Given the description of an element on the screen output the (x, y) to click on. 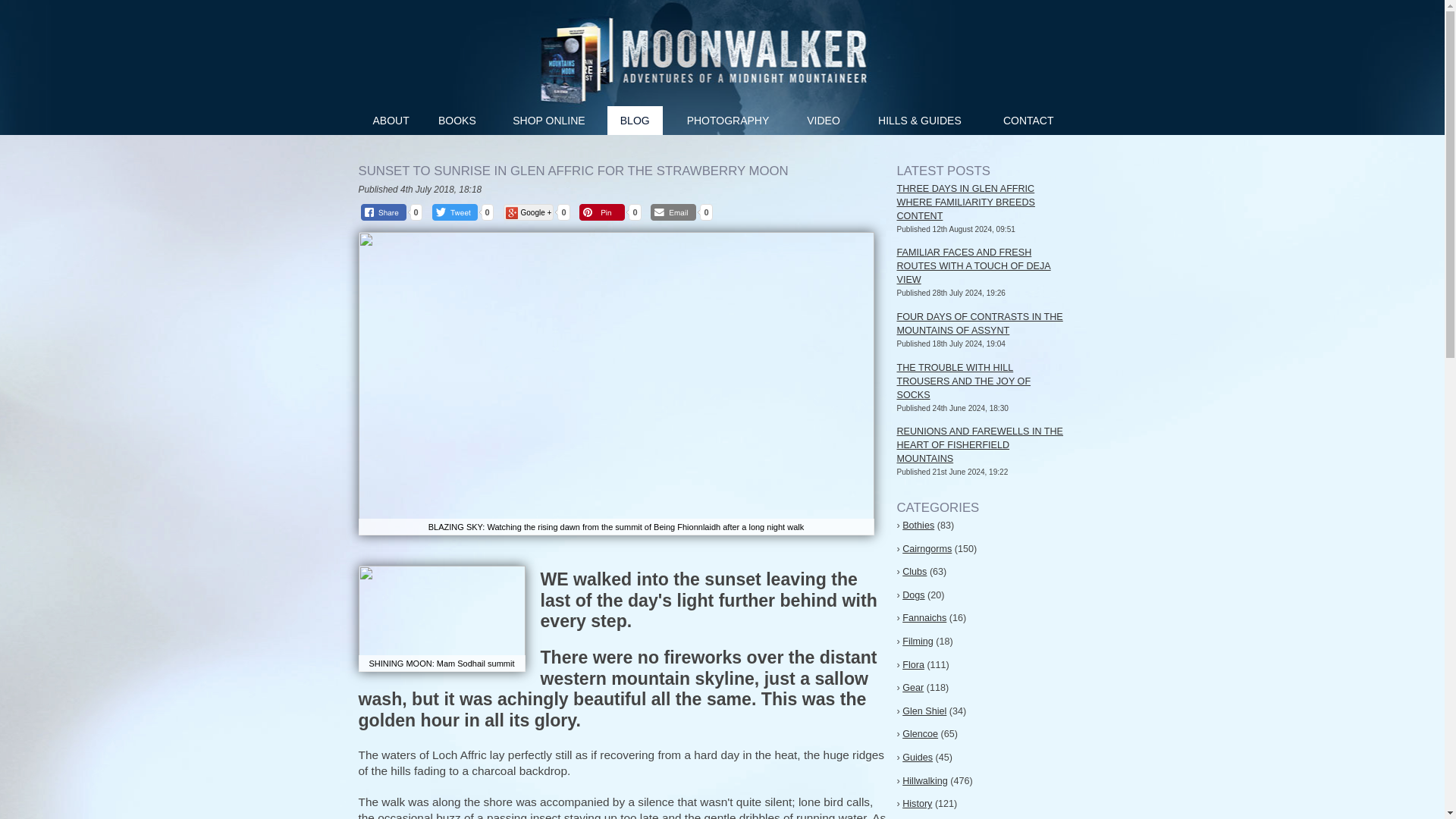
About (390, 120)
Dogs (913, 594)
Video (823, 120)
SHINING MOON: Mam Sodhail summit (441, 618)
Books (456, 120)
Glen Shiel (924, 710)
THE TROUBLE WITH HILL TROUSERS AND THE JOY OF SOCKS (963, 381)
Hillwalking (924, 779)
History (916, 803)
REUNIONS AND FAREWELLS IN THE HEART OF FISHERFIELD MOUNTAINS (979, 444)
